Given the description of an element on the screen output the (x, y) to click on. 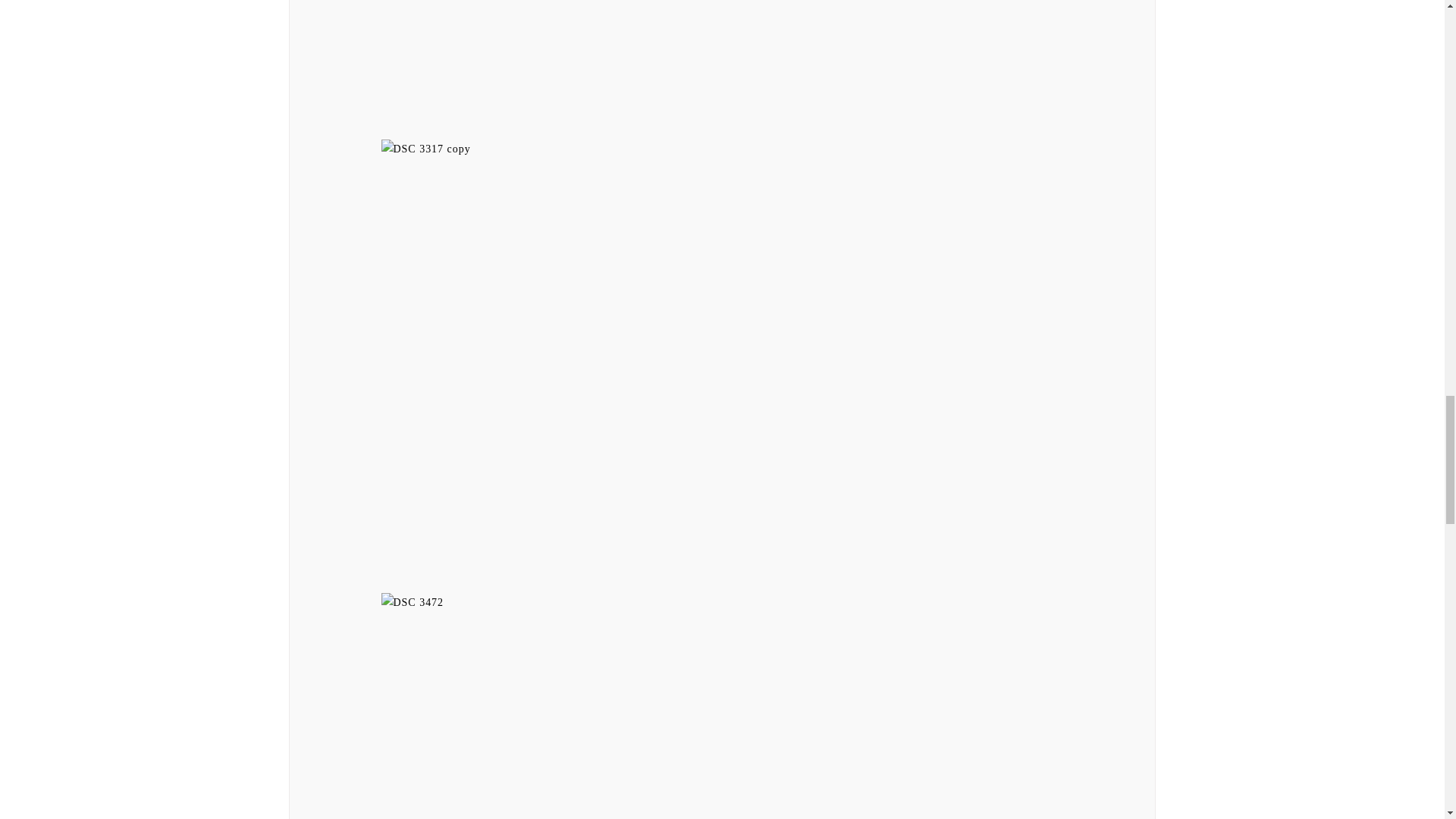
High School Senior Portraits (721, 69)
